Given the description of an element on the screen output the (x, y) to click on. 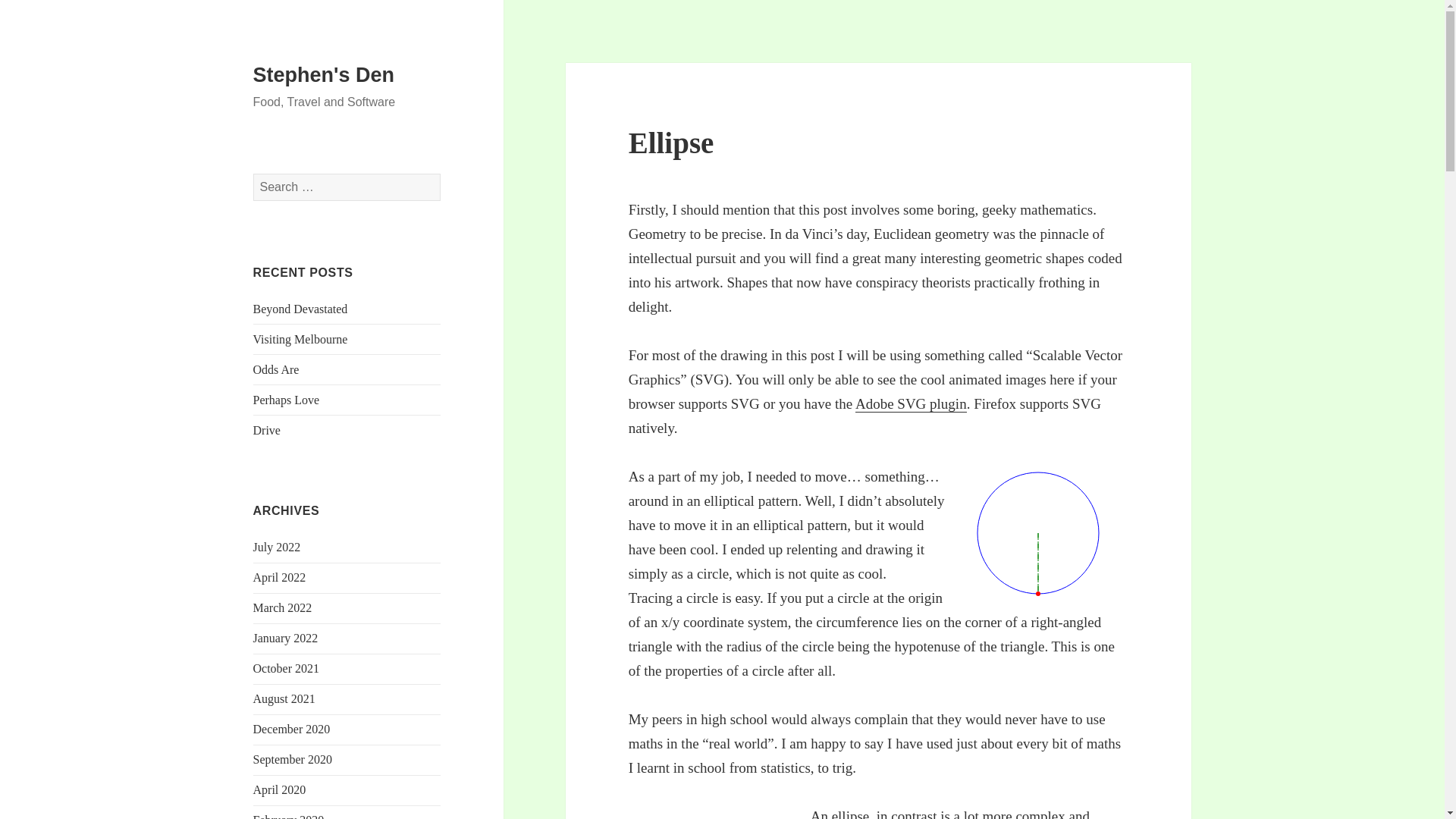
Beyond Devastated (300, 308)
December 2020 (291, 728)
Odds Are (276, 369)
August 2021 (284, 698)
February 2020 (288, 816)
January 2022 (285, 637)
April 2022 (279, 576)
October 2021 (286, 667)
Stephen's Den (323, 74)
July 2022 (277, 546)
September 2020 (292, 758)
Perhaps Love (286, 399)
